Given the description of an element on the screen output the (x, y) to click on. 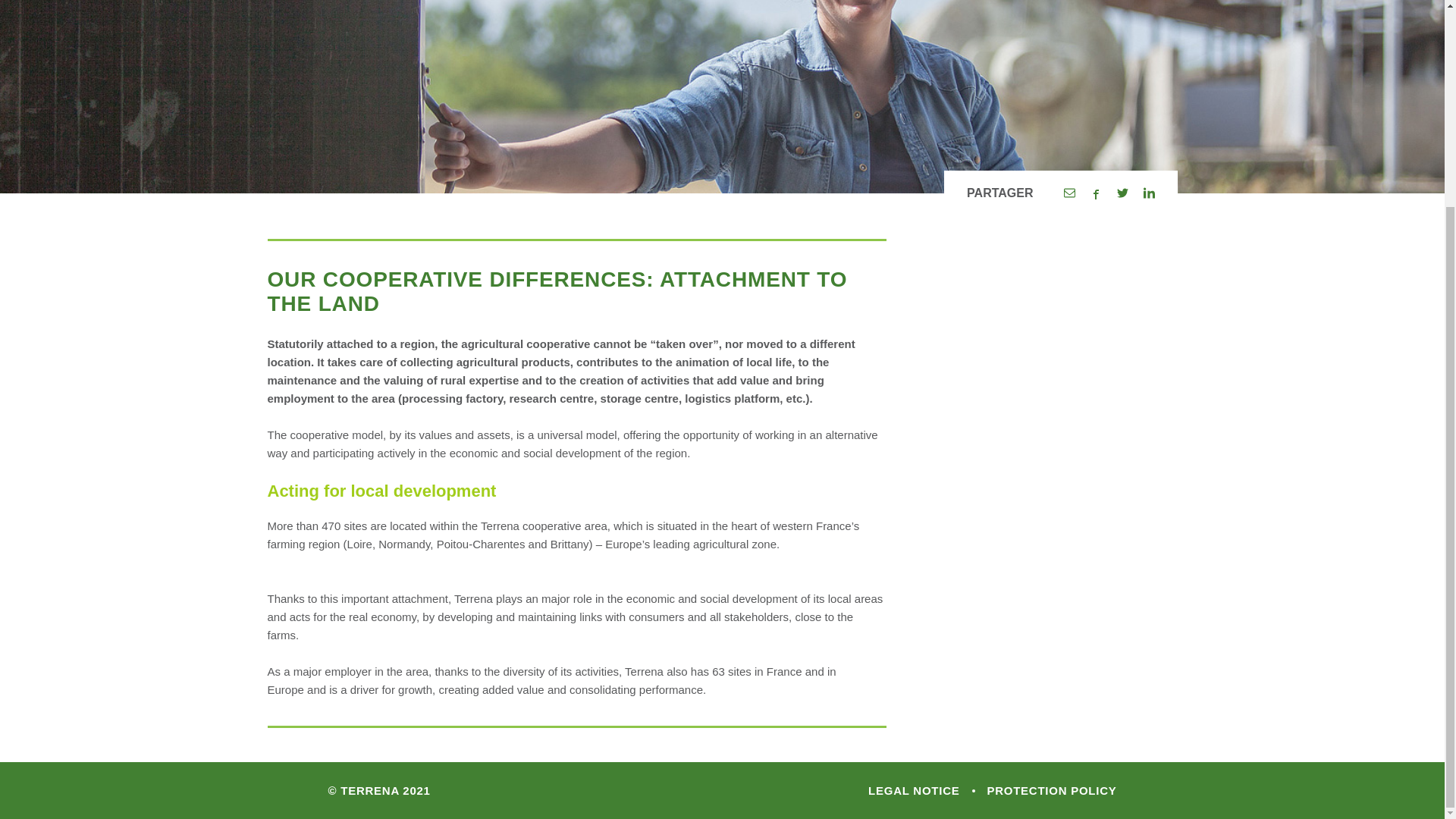
LEGAL NOTICE (913, 789)
Share on Linkedin (1148, 193)
PROTECTION POLICY (1045, 789)
Share on Facebook (1096, 193)
Send by email (1068, 193)
Tweet (1121, 193)
